Given the description of an element on the screen output the (x, y) to click on. 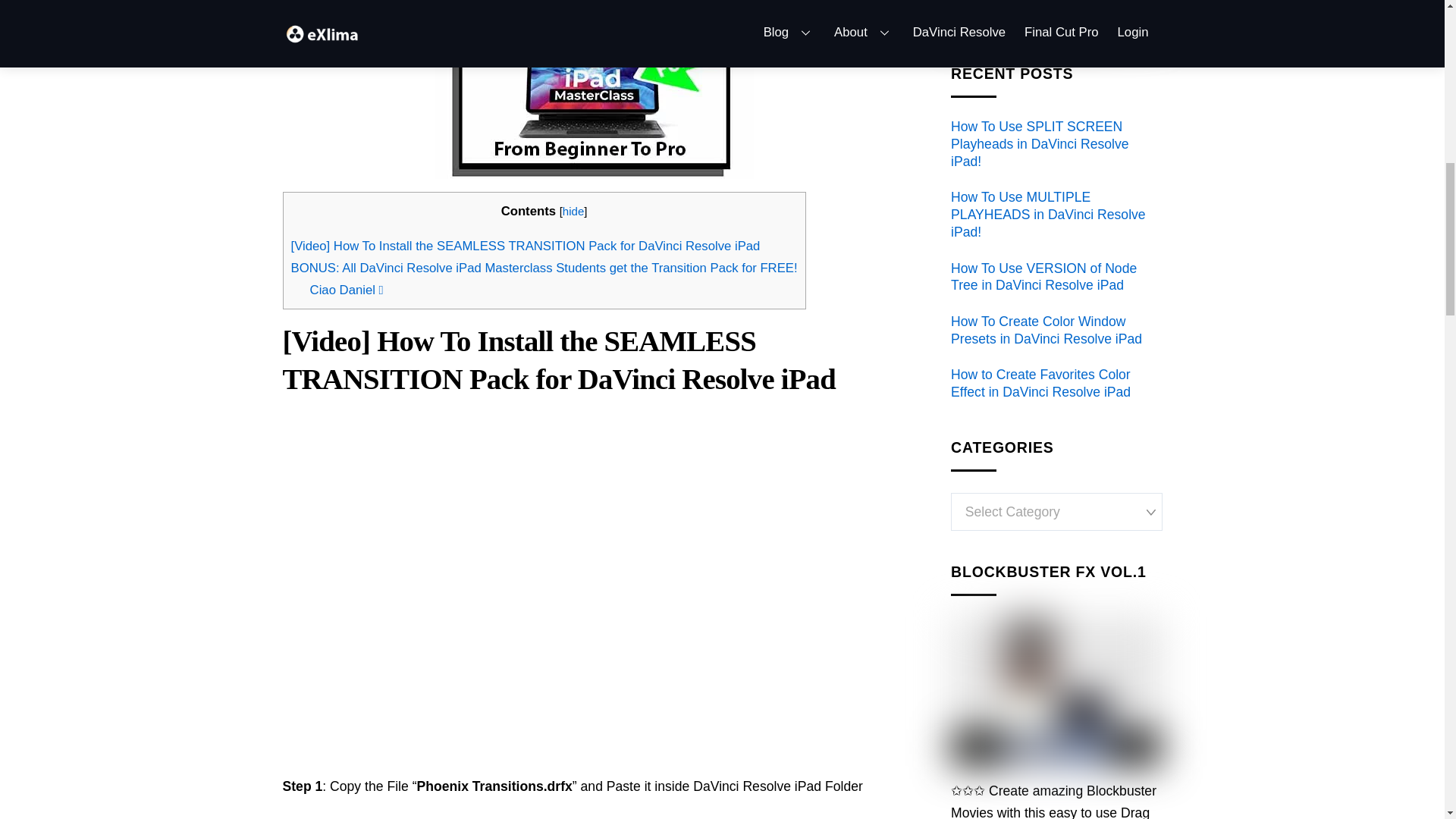
hide (572, 210)
